Given the description of an element on the screen output the (x, y) to click on. 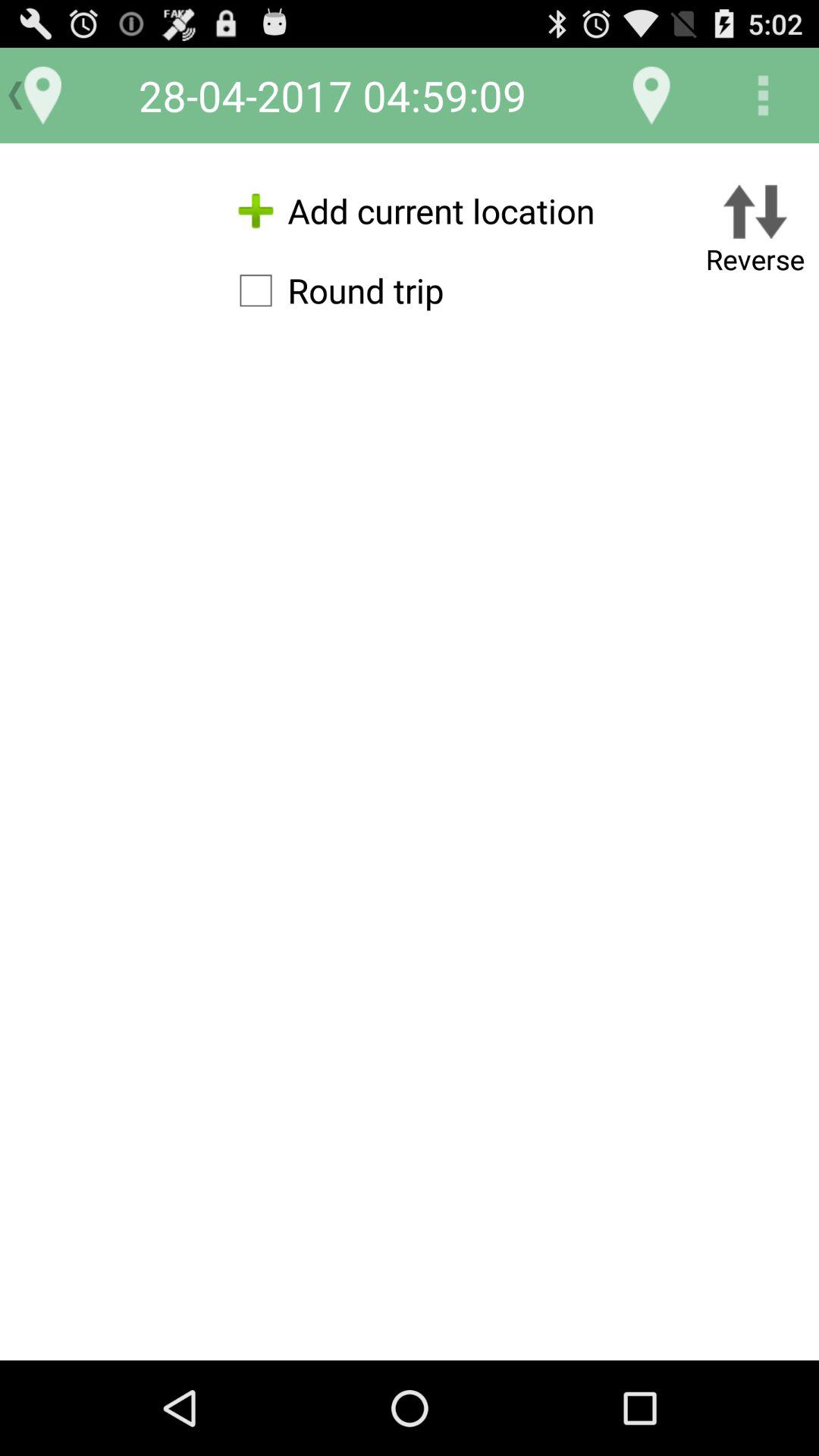
tap the reverse button (755, 232)
